Given the description of an element on the screen output the (x, y) to click on. 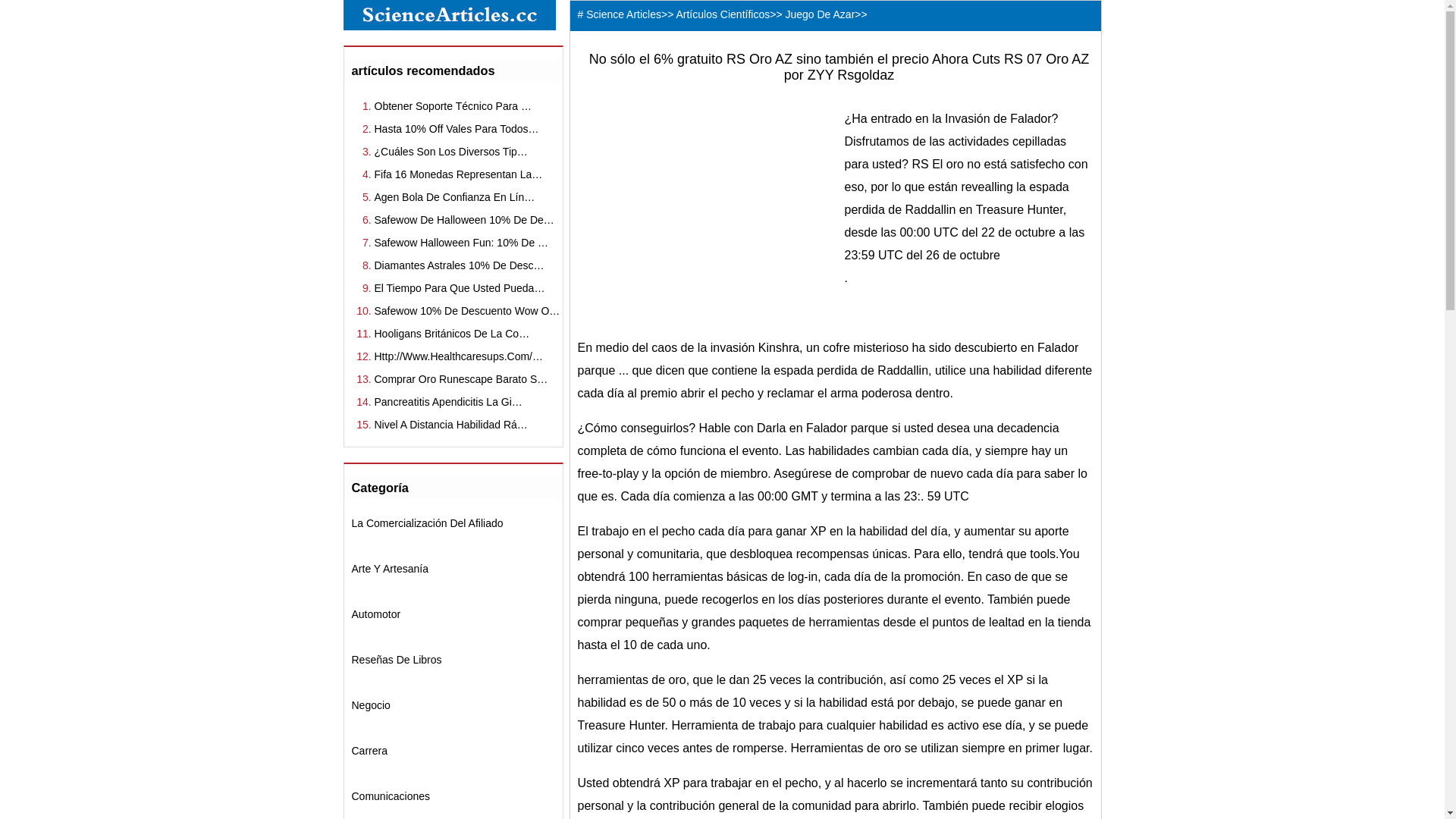
Negocio Element type: text (370, 705)
Advertisement Element type: hover (704, 201)
Comunicaciones Element type: text (390, 796)
Carrera Element type: text (369, 750)
Automotor Element type: text (376, 614)
Juego De Azar Element type: text (819, 14)
Science Articles Element type: text (623, 14)
